Given the description of an element on the screen output the (x, y) to click on. 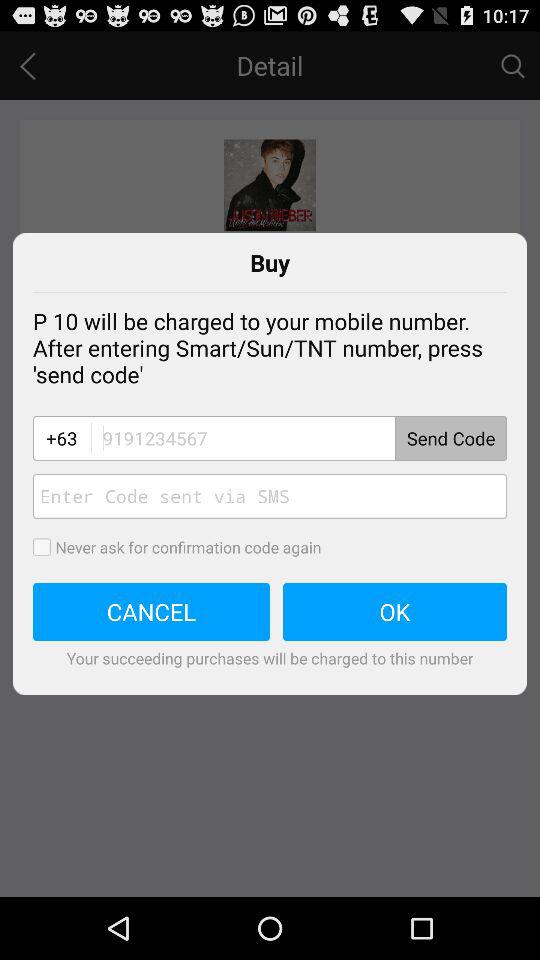
select to opt out of inputting confirmation codes (48, 547)
